Given the description of an element on the screen output the (x, y) to click on. 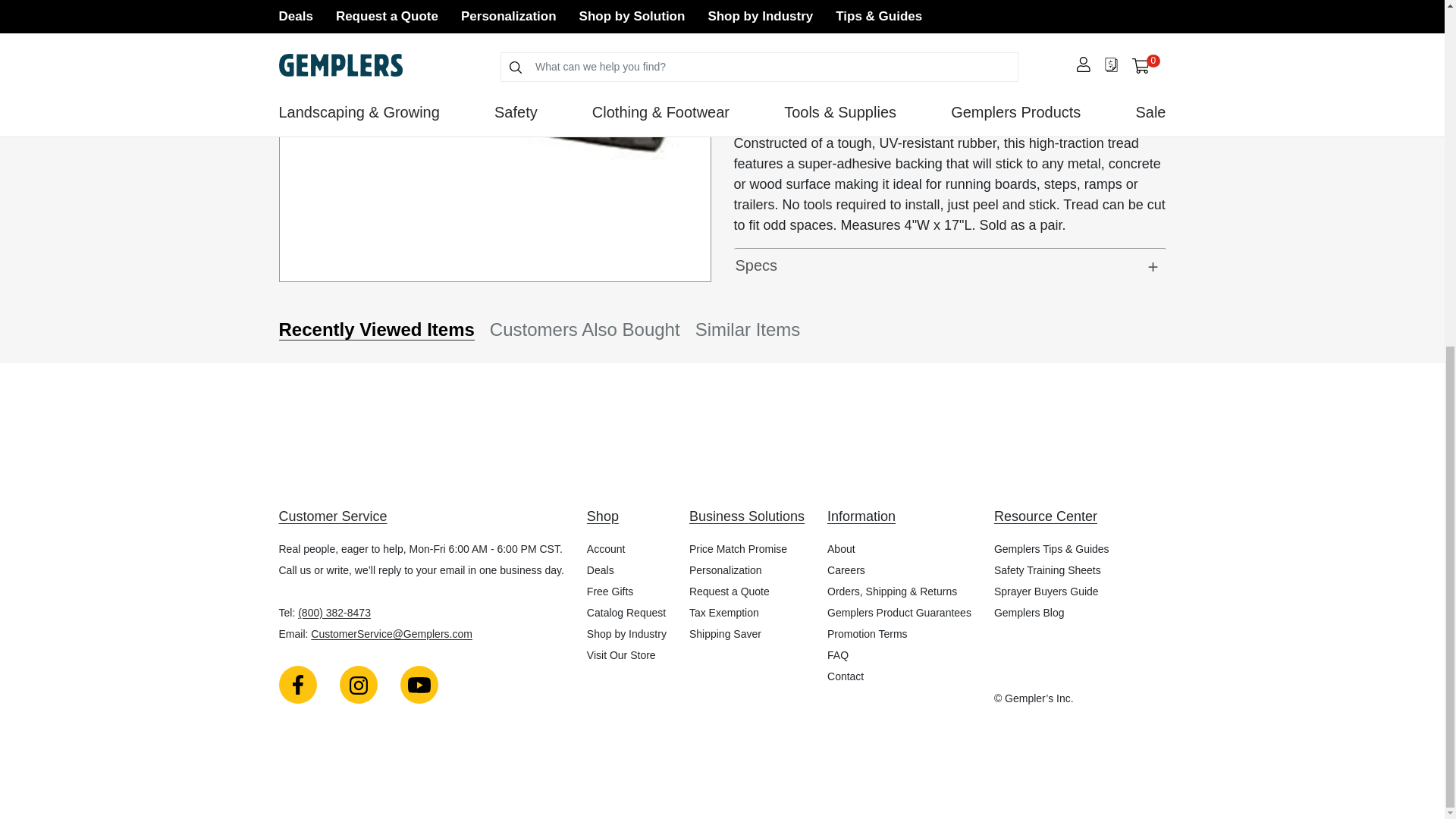
Facebook (298, 684)
tel:8003828473 (334, 612)
Instagram (358, 684)
Youtube (419, 684)
